Given the description of an element on the screen output the (x, y) to click on. 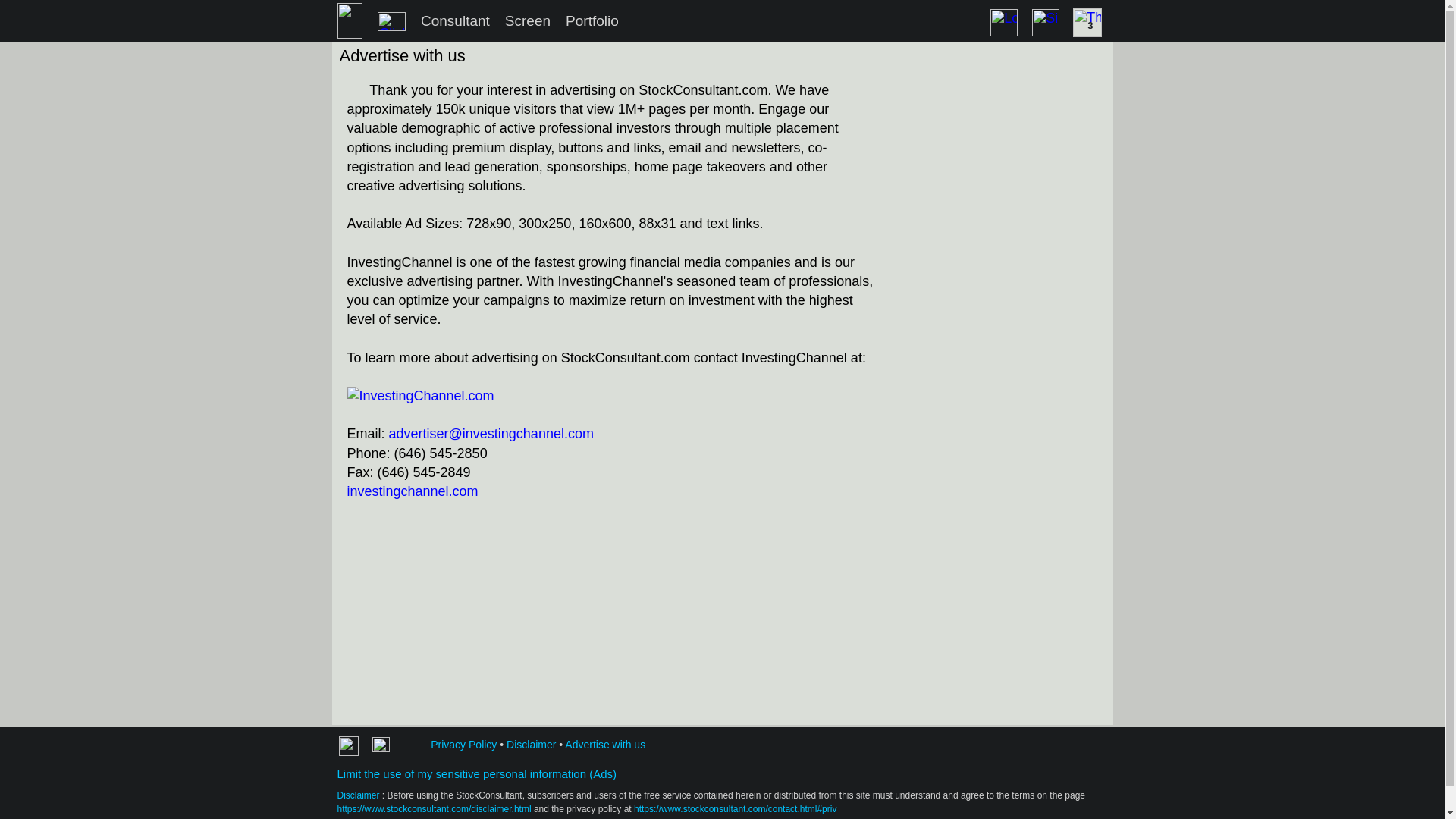
investingchannel.com (413, 491)
InvestingChannel.com (413, 491)
Consultant (454, 20)
contact email for advertising (491, 433)
Theme (1087, 22)
Screen (527, 20)
Privacy Policy (463, 744)
InvestingChannel (421, 395)
Disclaimer (357, 795)
Log in (1003, 22)
